Given the description of an element on the screen output the (x, y) to click on. 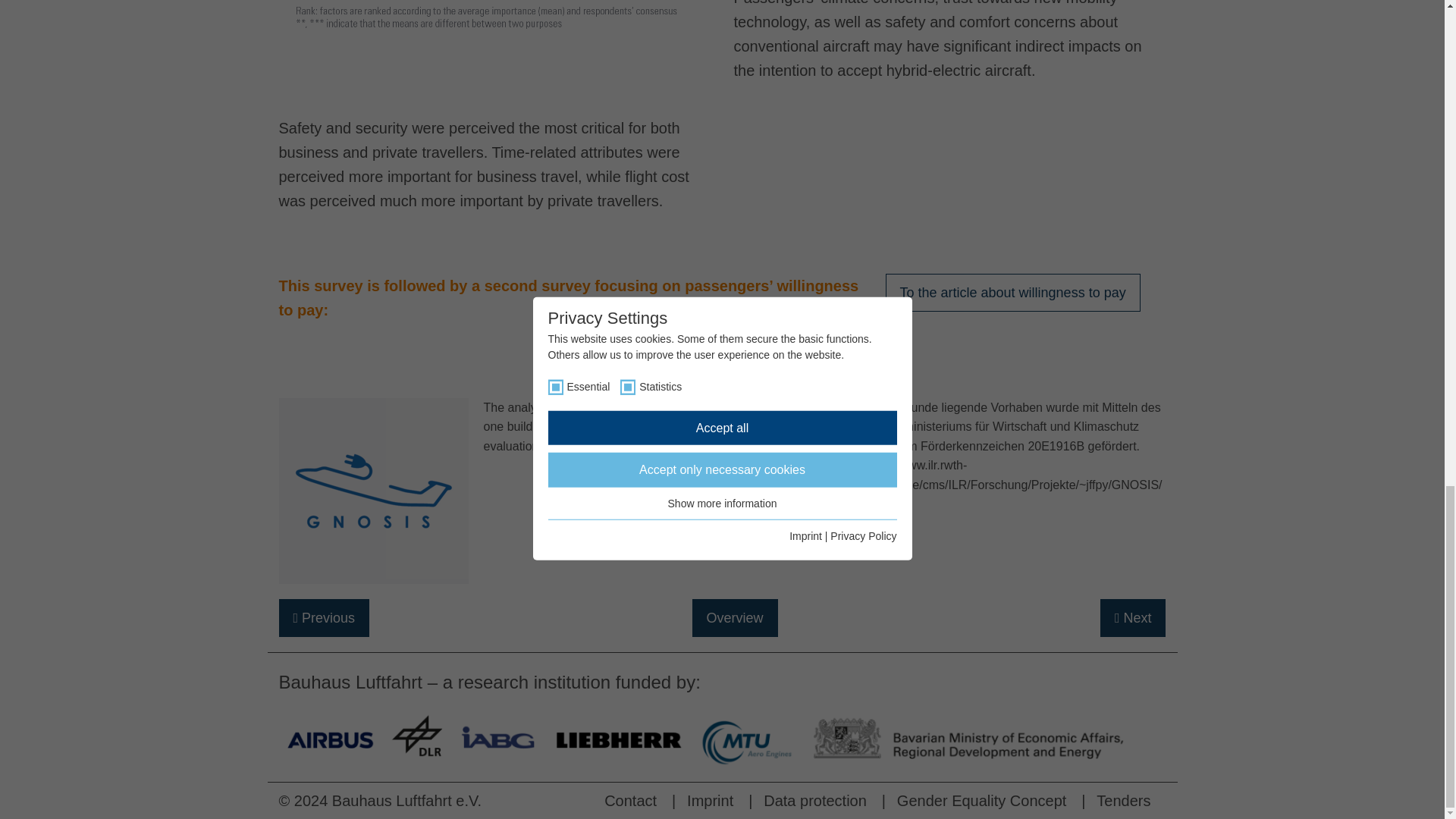
Next (1133, 618)
Previous (324, 618)
Overview (734, 618)
To the article about willingness to pay (1012, 292)
